Given the description of an element on the screen output the (x, y) to click on. 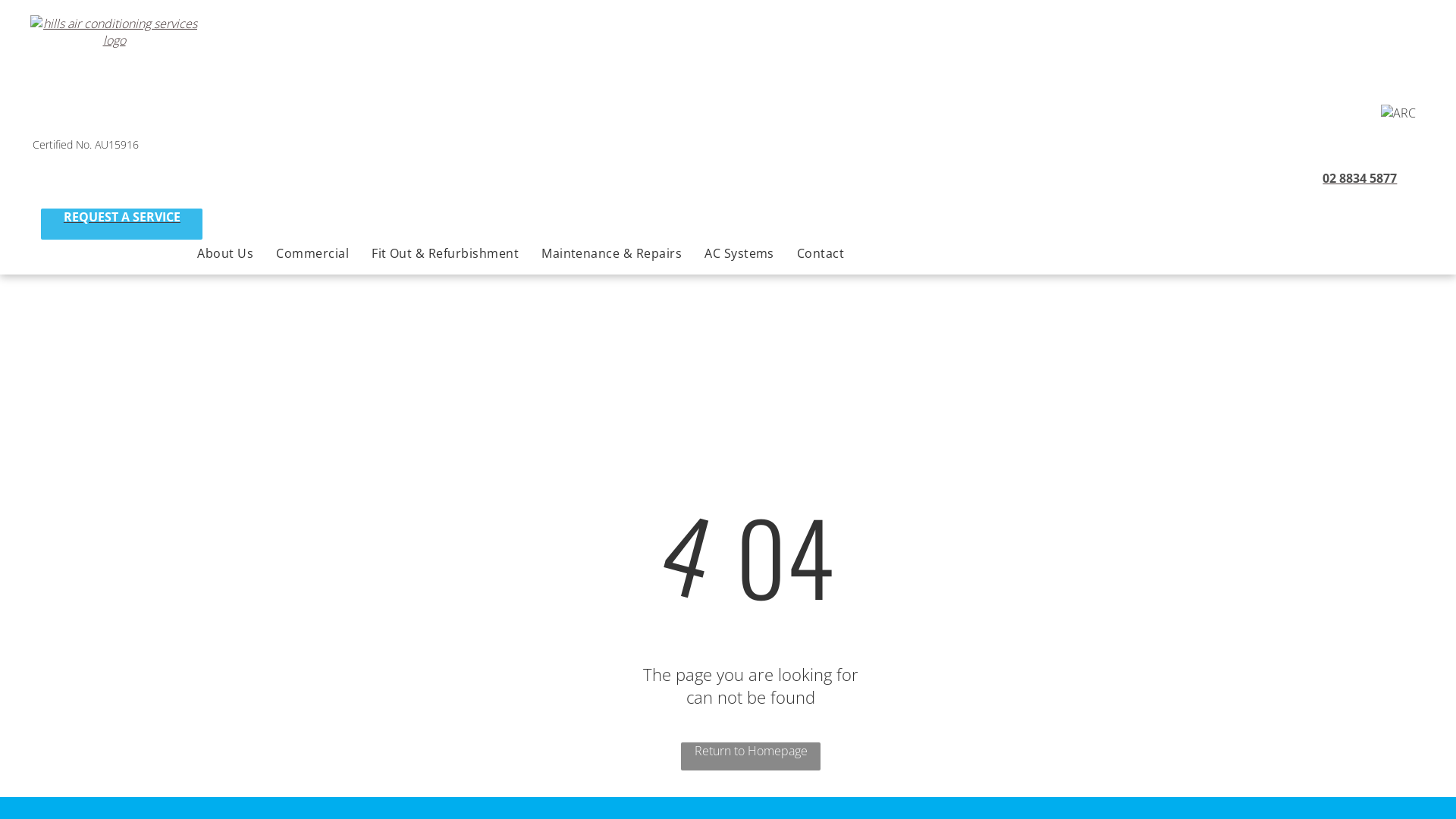
Commercial Element type: text (312, 252)
Return to Homepage Element type: text (750, 756)
Maintenance & Repairs Element type: text (611, 252)
About Us Element type: text (224, 252)
AC Systems Element type: text (739, 252)
Contact Element type: text (820, 252)
Fit Out & Refurbishment Element type: text (445, 252)
REQUEST A SERVICE Element type: text (121, 223)
02 8834 5877 Element type: text (1350, 184)
